Given the description of an element on the screen output the (x, y) to click on. 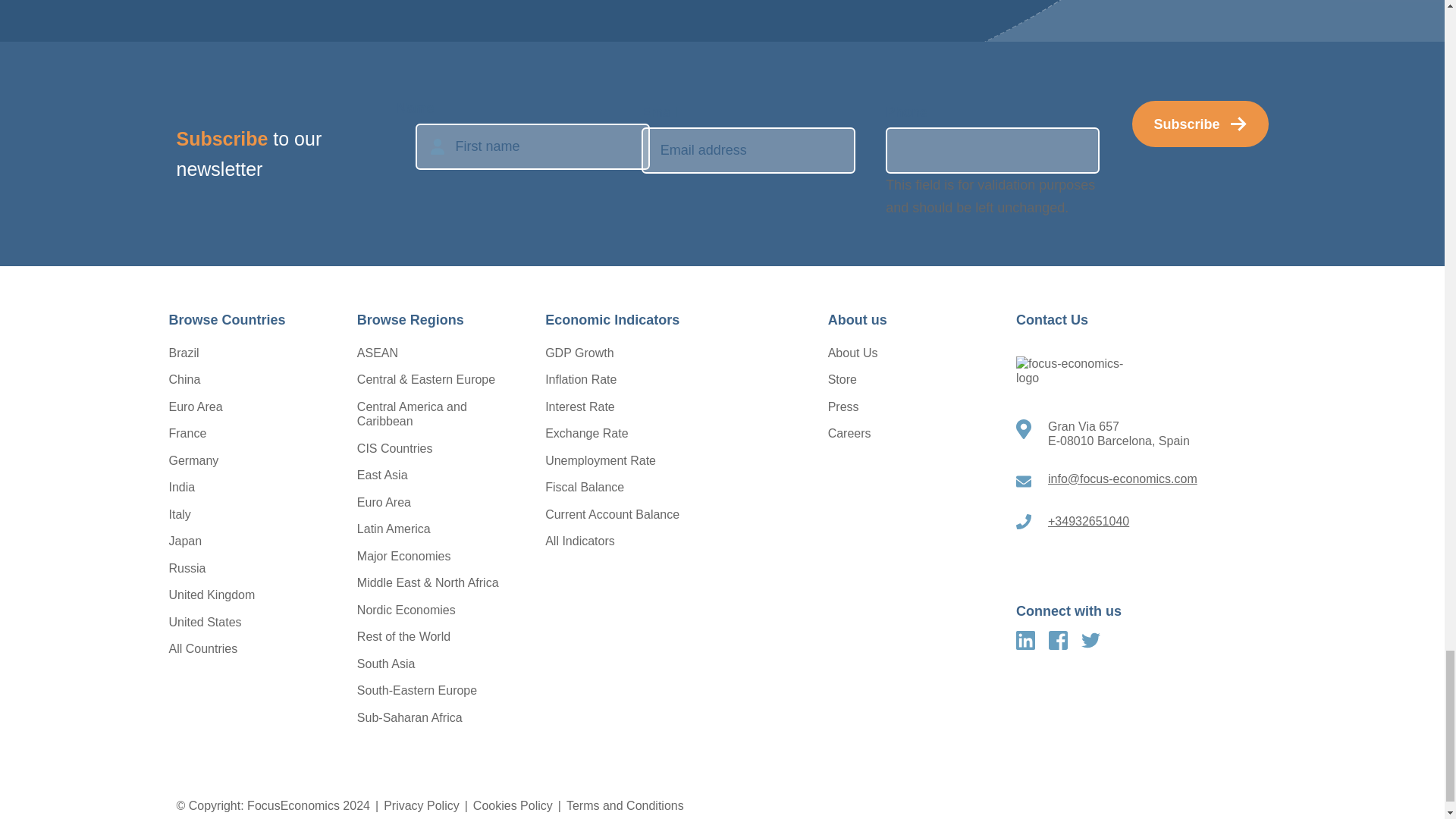
Subscribe (1200, 123)
